Given the description of an element on the screen output the (x, y) to click on. 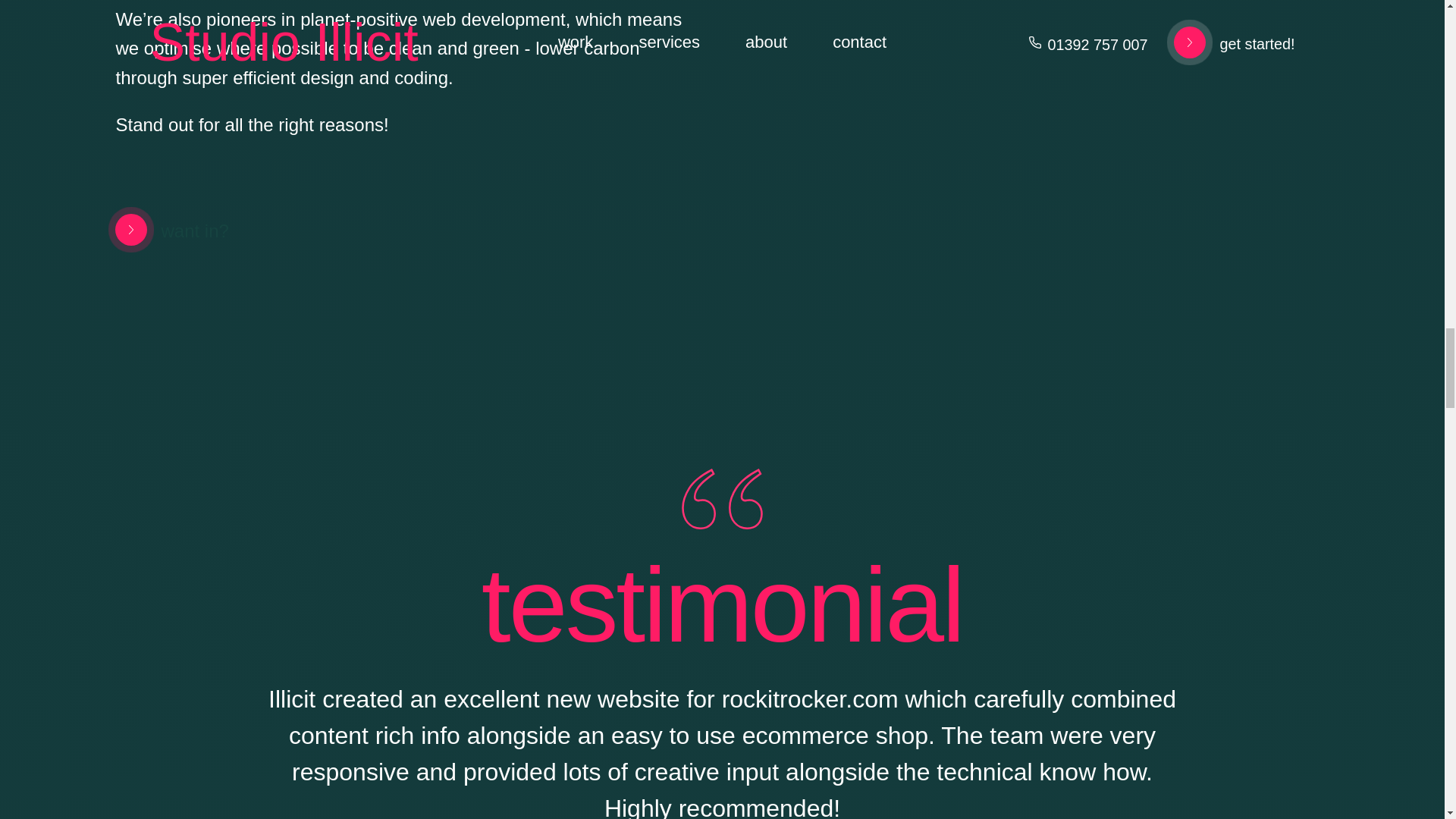
want in? (164, 229)
